Given the description of an element on the screen output the (x, y) to click on. 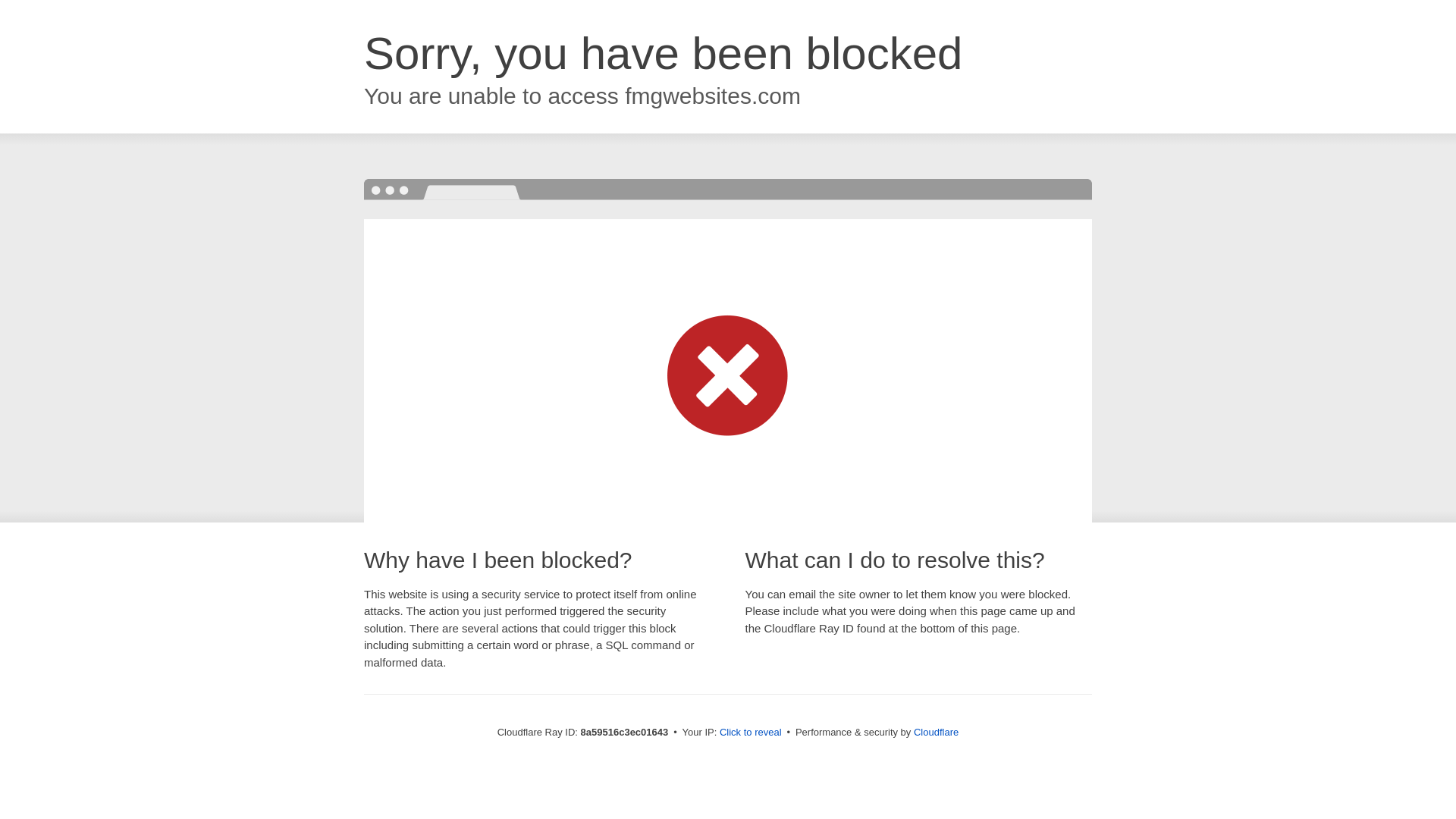
Click to reveal (750, 732)
Cloudflare (936, 731)
